Given the description of an element on the screen output the (x, y) to click on. 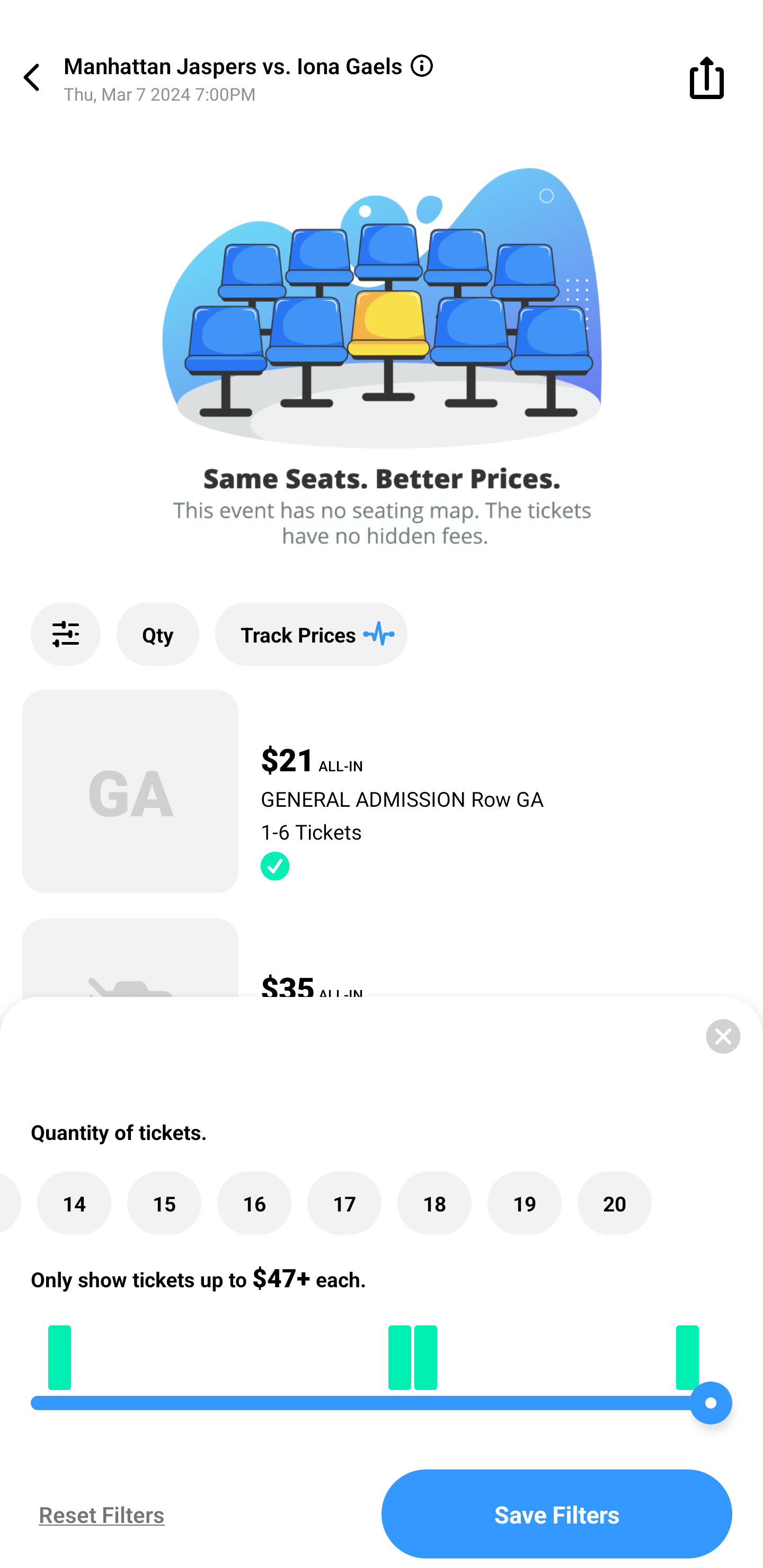
14 (74, 1203)
15 (164, 1203)
16 (254, 1203)
17 (344, 1203)
18 (434, 1203)
19 (524, 1203)
20 (614, 1203)
Save Filters (556, 1513)
Reset Filters (97, 1513)
